Given the description of an element on the screen output the (x, y) to click on. 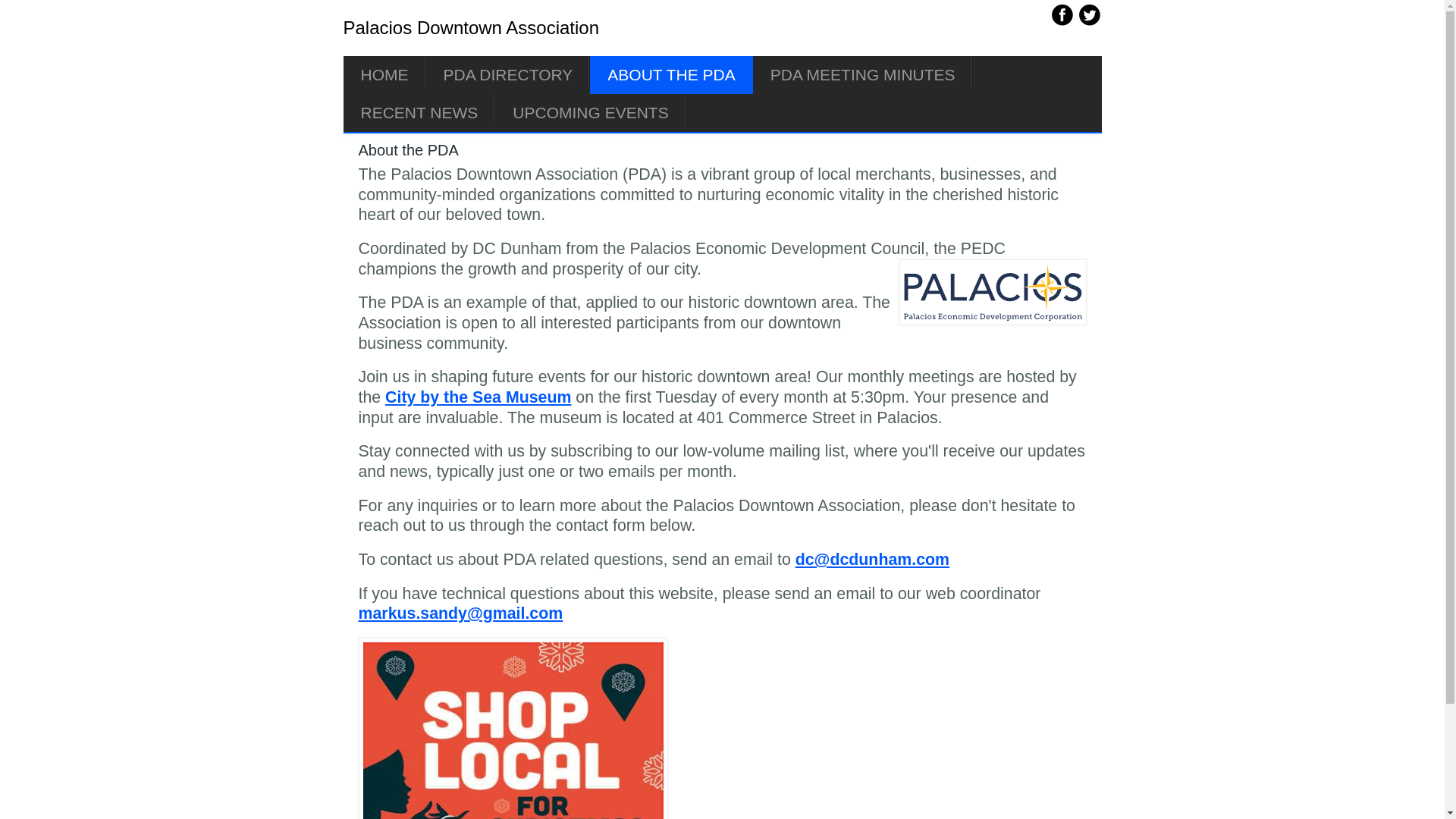
Palacios Downtown Association (470, 27)
City by the Sea Museum (477, 397)
Home (470, 27)
PDA DIRECTORY (508, 75)
UPCOMING EVENTS (590, 112)
PDA MEETING MINUTES (862, 75)
HOME (383, 75)
ABOUT THE PDA (670, 75)
RECENT NEWS (418, 112)
